Given the description of an element on the screen output the (x, y) to click on. 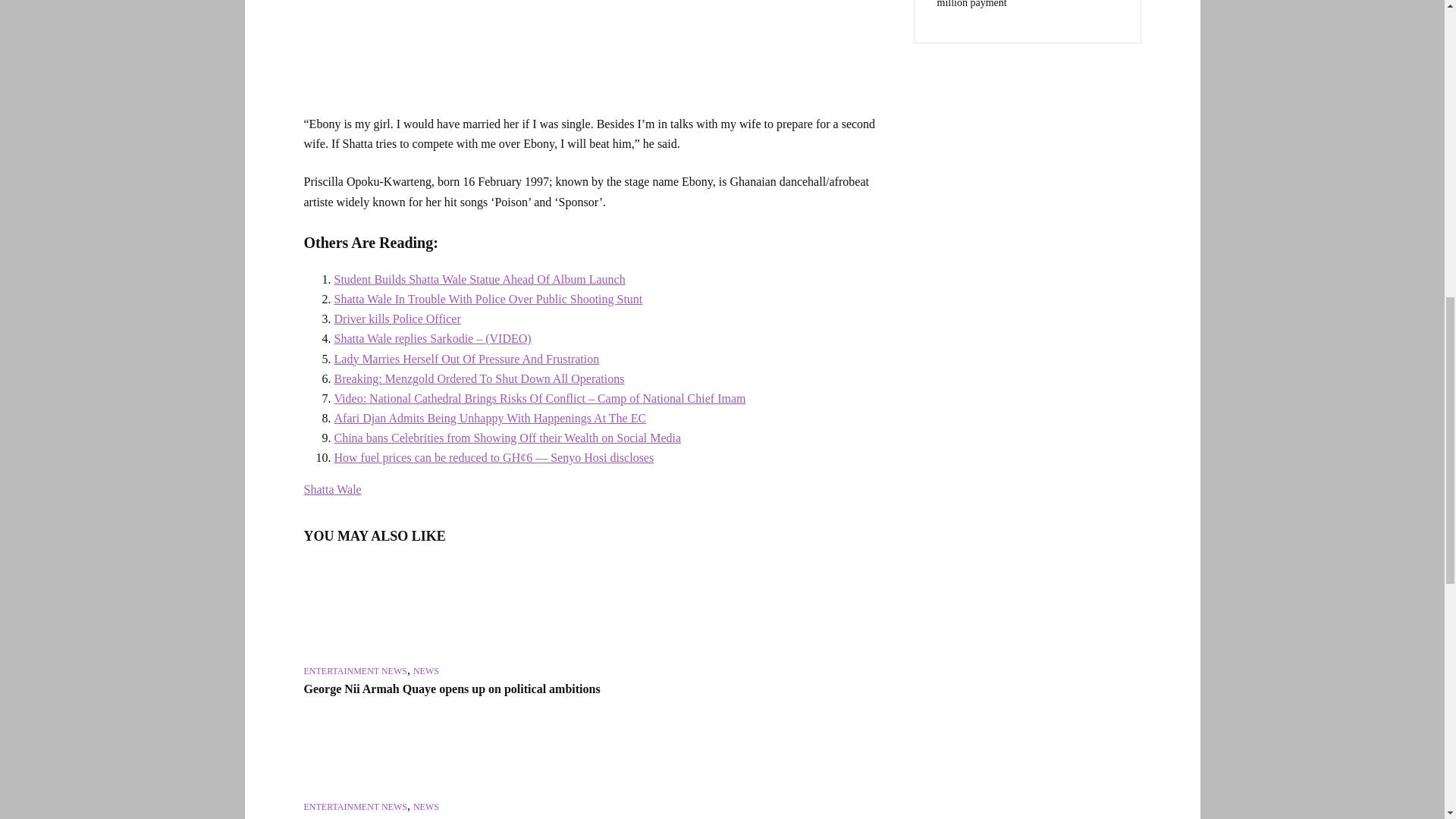
George Nii Armah Quaye opens up on political ambitions (390, 609)
Lady Marries Herself Out Of Pressure And Frustration (465, 358)
Student Builds Shatta Wale Statue Ahead Of Album Launch (478, 278)
Driver kills Police Officer (396, 318)
Breaking: Menzgold Ordered To Shut Down All Operations (478, 378)
Student Builds Shatta Wale Statue Ahead Of Album Launch (478, 278)
Lady Marries Herself Out Of Pressure And Frustration (465, 358)
